Given the description of an element on the screen output the (x, y) to click on. 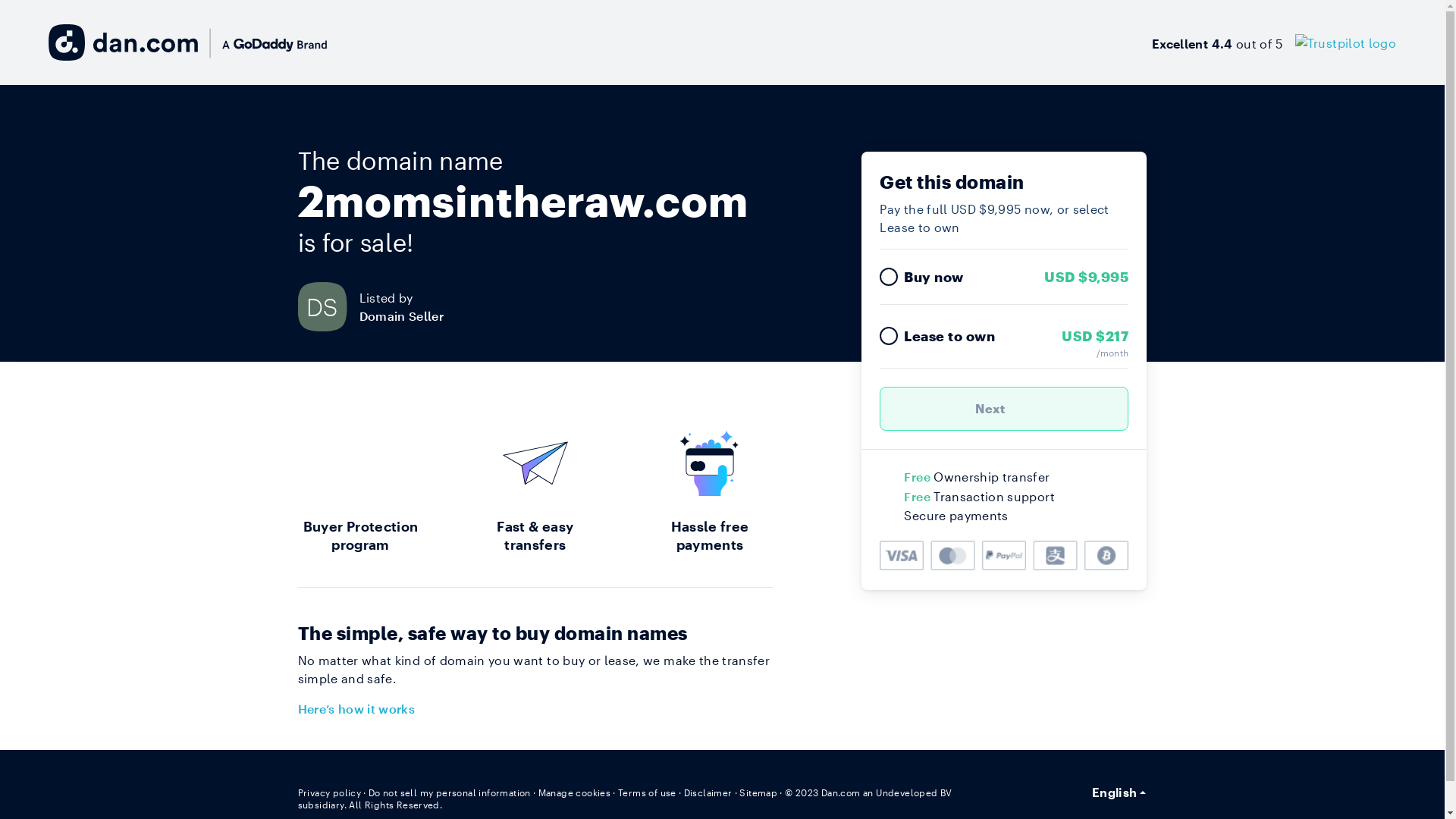
Excellent 4.4 out of 5 Element type: text (1273, 42)
English Element type: text (1119, 792)
Manage cookies Element type: text (574, 792)
Disclaimer Element type: text (708, 792)
Terms of use Element type: text (647, 792)
Next
) Element type: text (1003, 408)
Sitemap Element type: text (758, 792)
Do not sell my personal information Element type: text (449, 792)
Privacy policy Element type: text (328, 792)
